Given the description of an element on the screen output the (x, y) to click on. 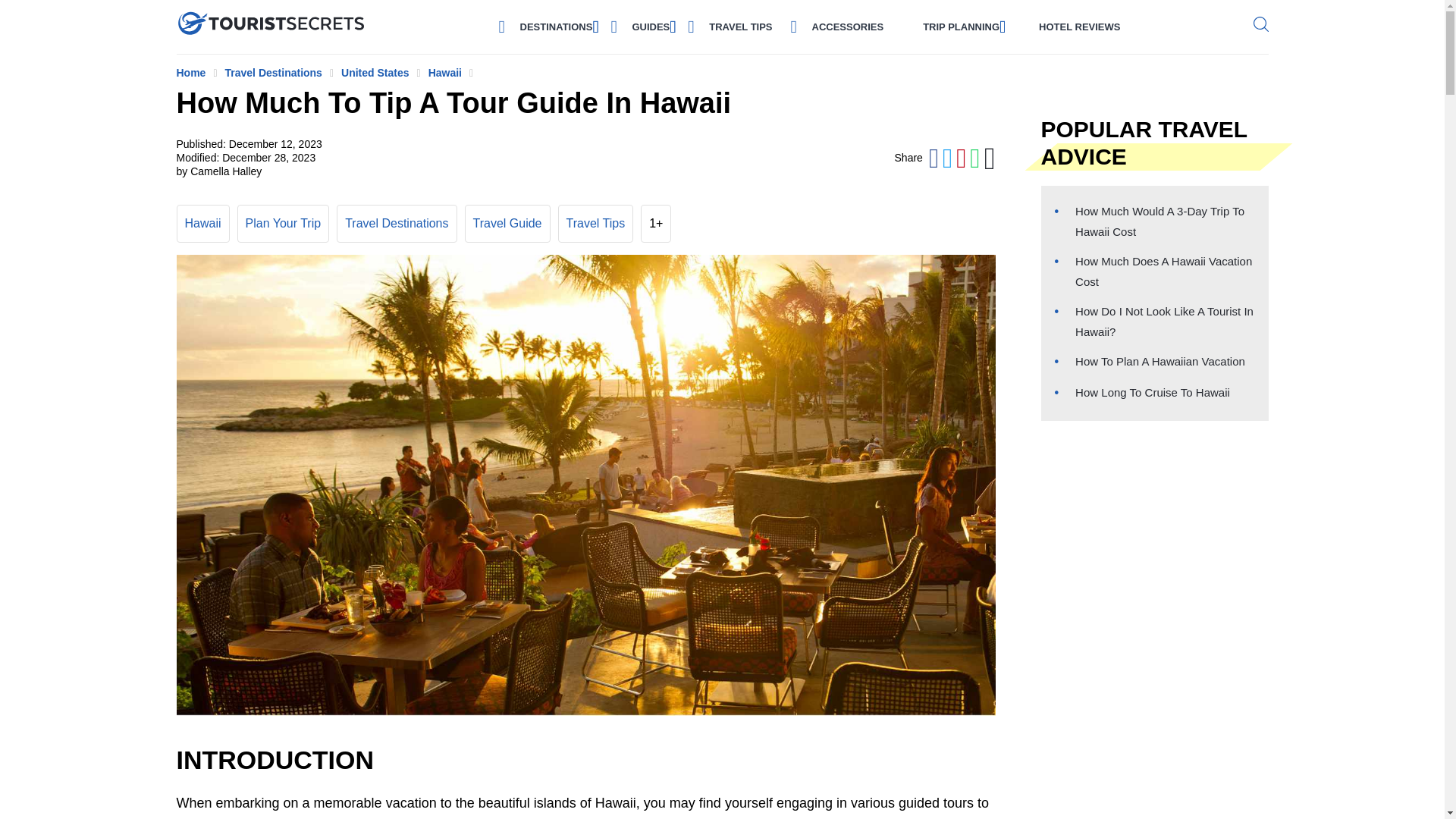
DESTINATIONS (555, 26)
